Given the description of an element on the screen output the (x, y) to click on. 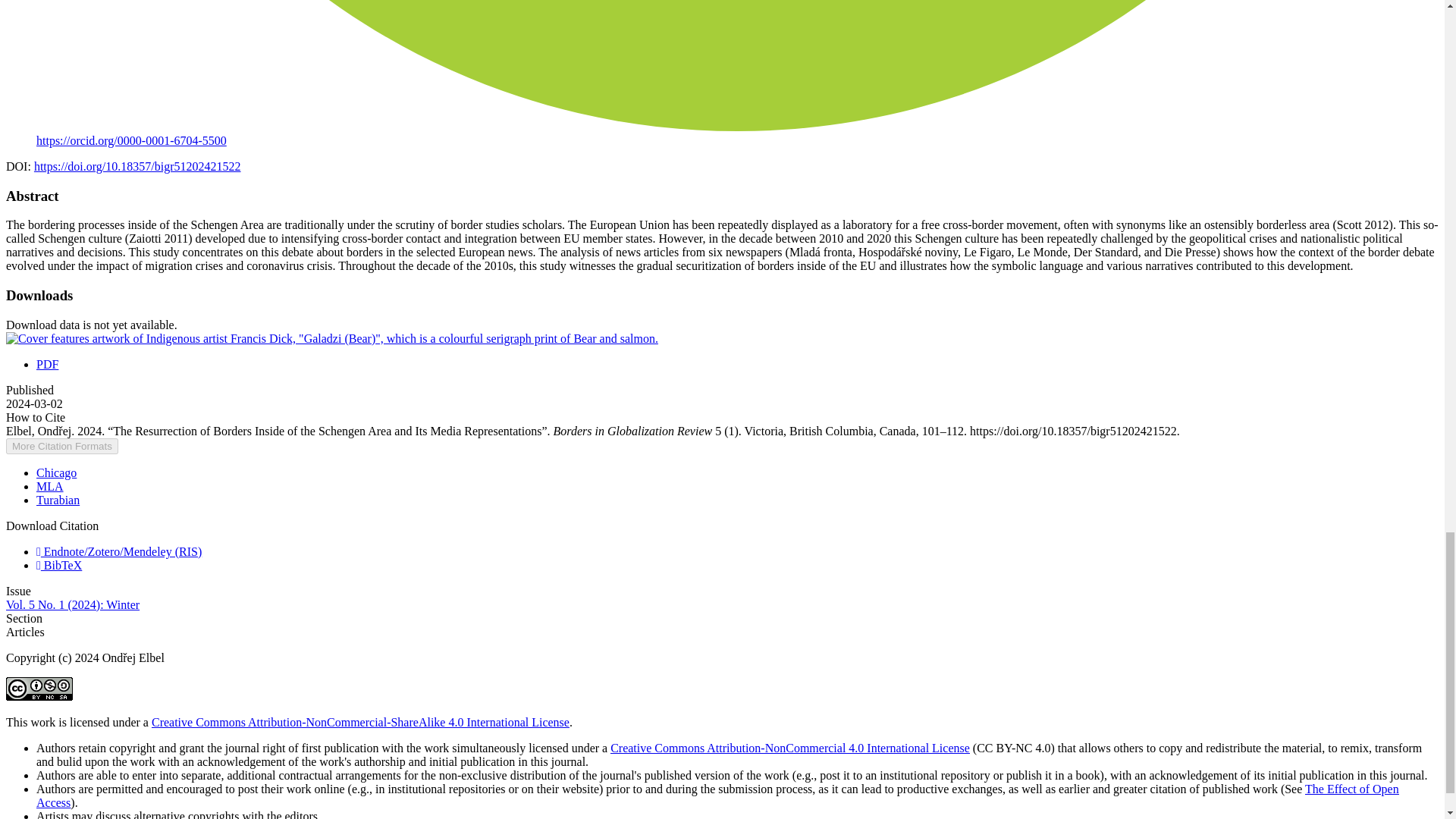
Turabian (58, 499)
More Citation Formats (61, 446)
PDF (47, 364)
The Effect of Open Access (717, 795)
BibTeX (58, 564)
Chicago (56, 472)
MLA (50, 486)
